Given the description of an element on the screen output the (x, y) to click on. 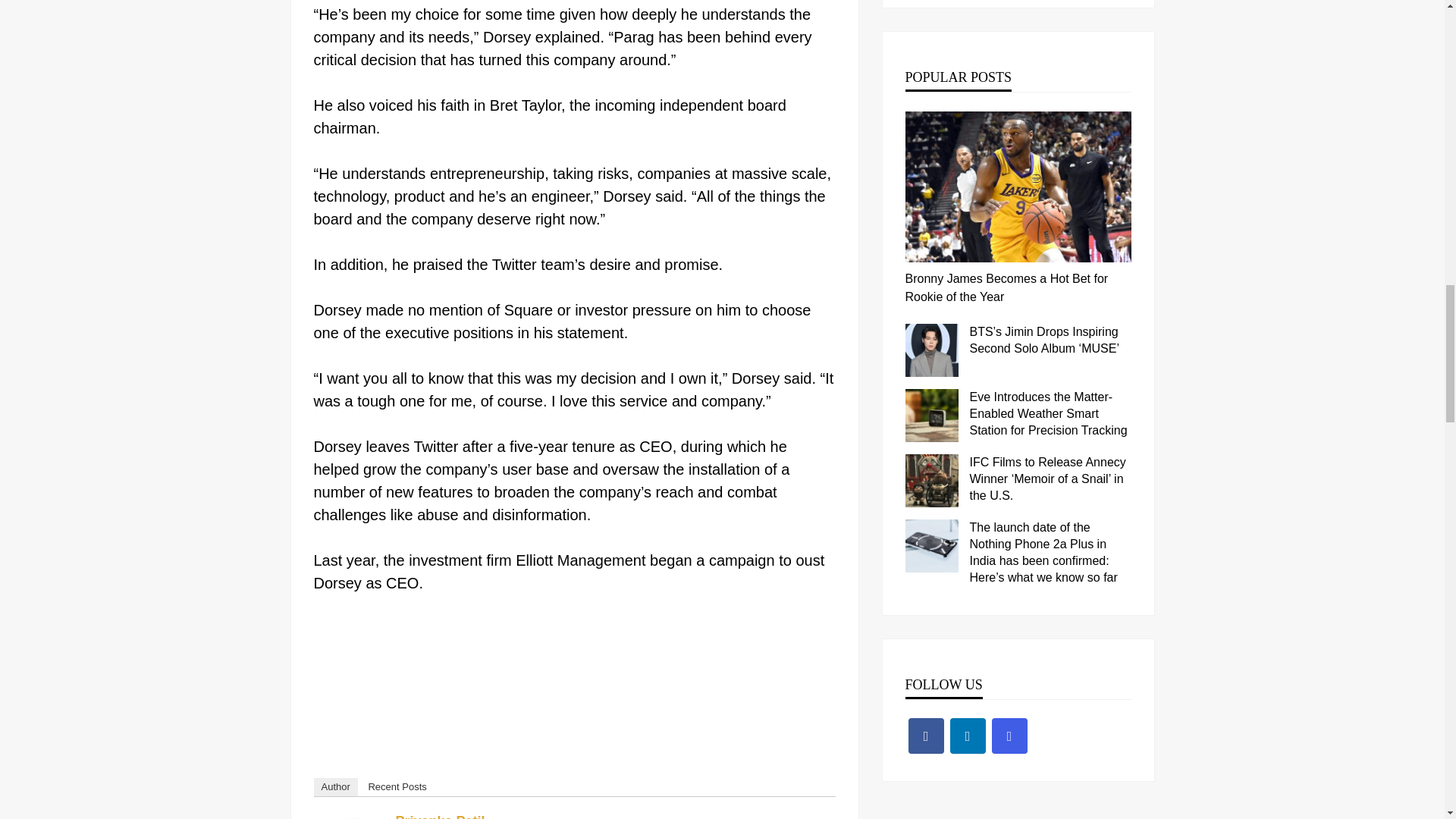
Priyanka Patil (440, 816)
Author (336, 787)
Advertisement (574, 682)
Recent Posts (396, 787)
